Given the description of an element on the screen output the (x, y) to click on. 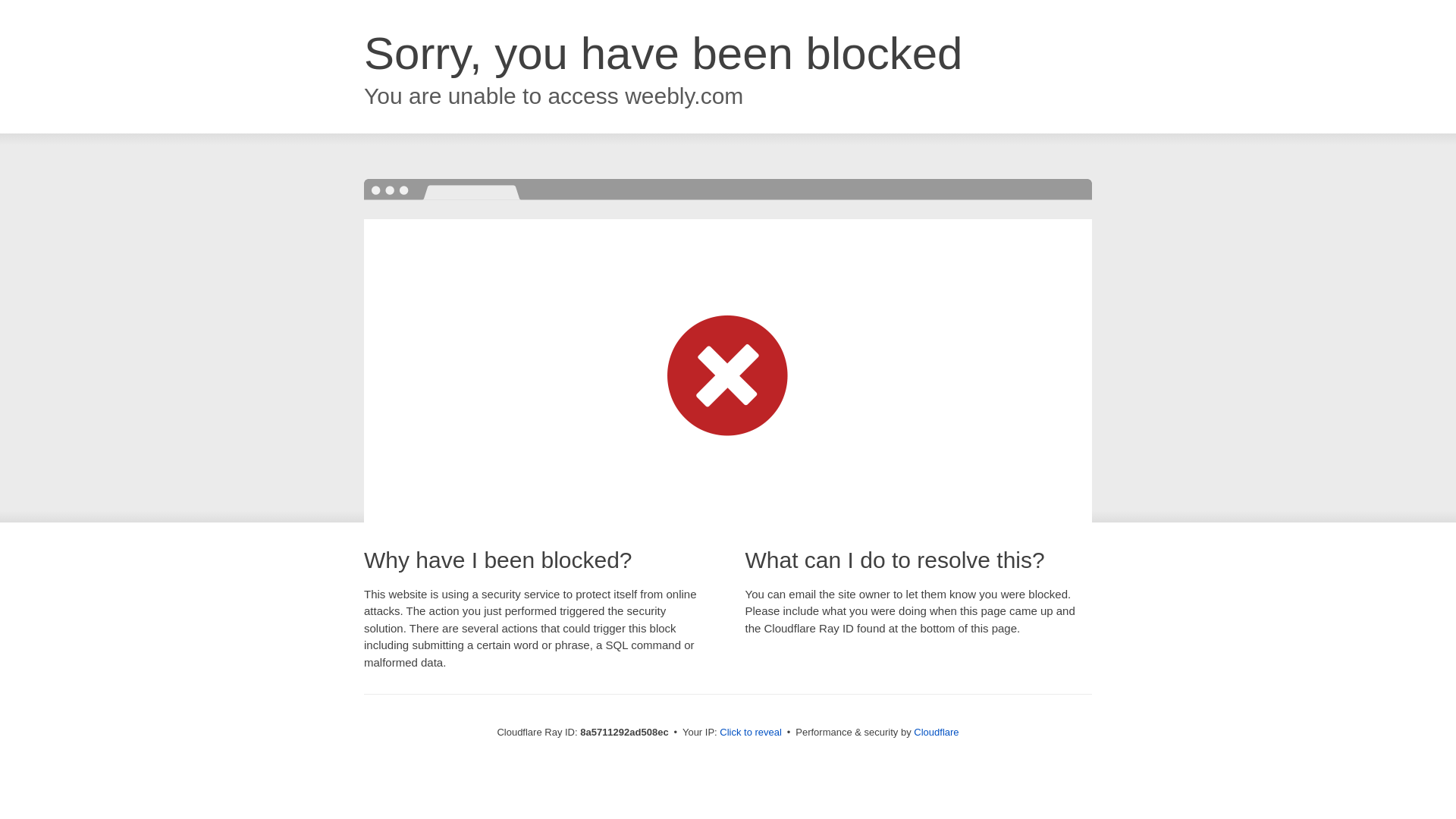
Click to reveal (750, 732)
Cloudflare (936, 731)
